Given the description of an element on the screen output the (x, y) to click on. 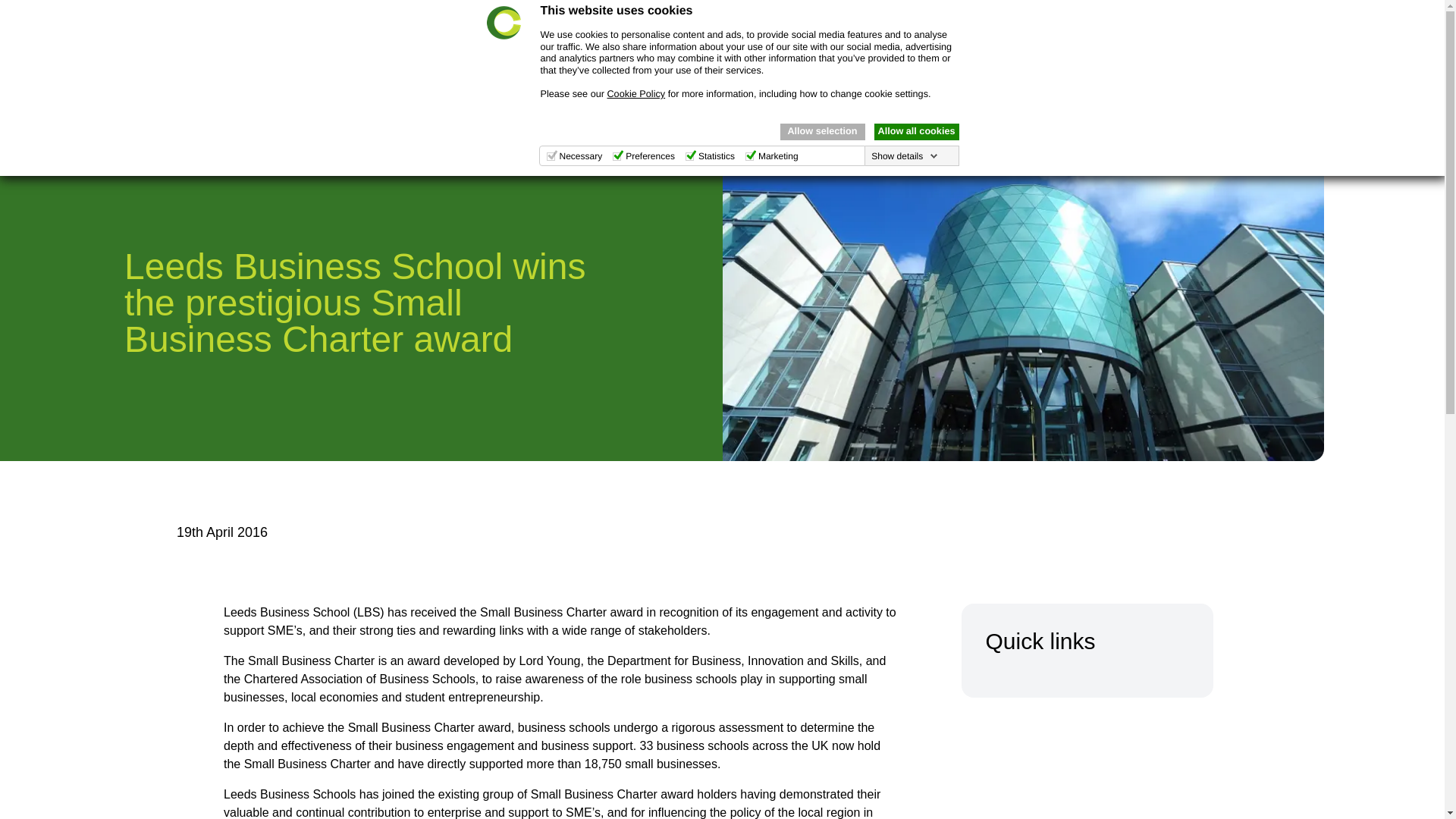
Cookie Policy (636, 93)
Opens cookie policy in new window (636, 93)
Show details (903, 155)
Allow all cookies (915, 131)
Allow selection (821, 131)
